Given the description of an element on the screen output the (x, y) to click on. 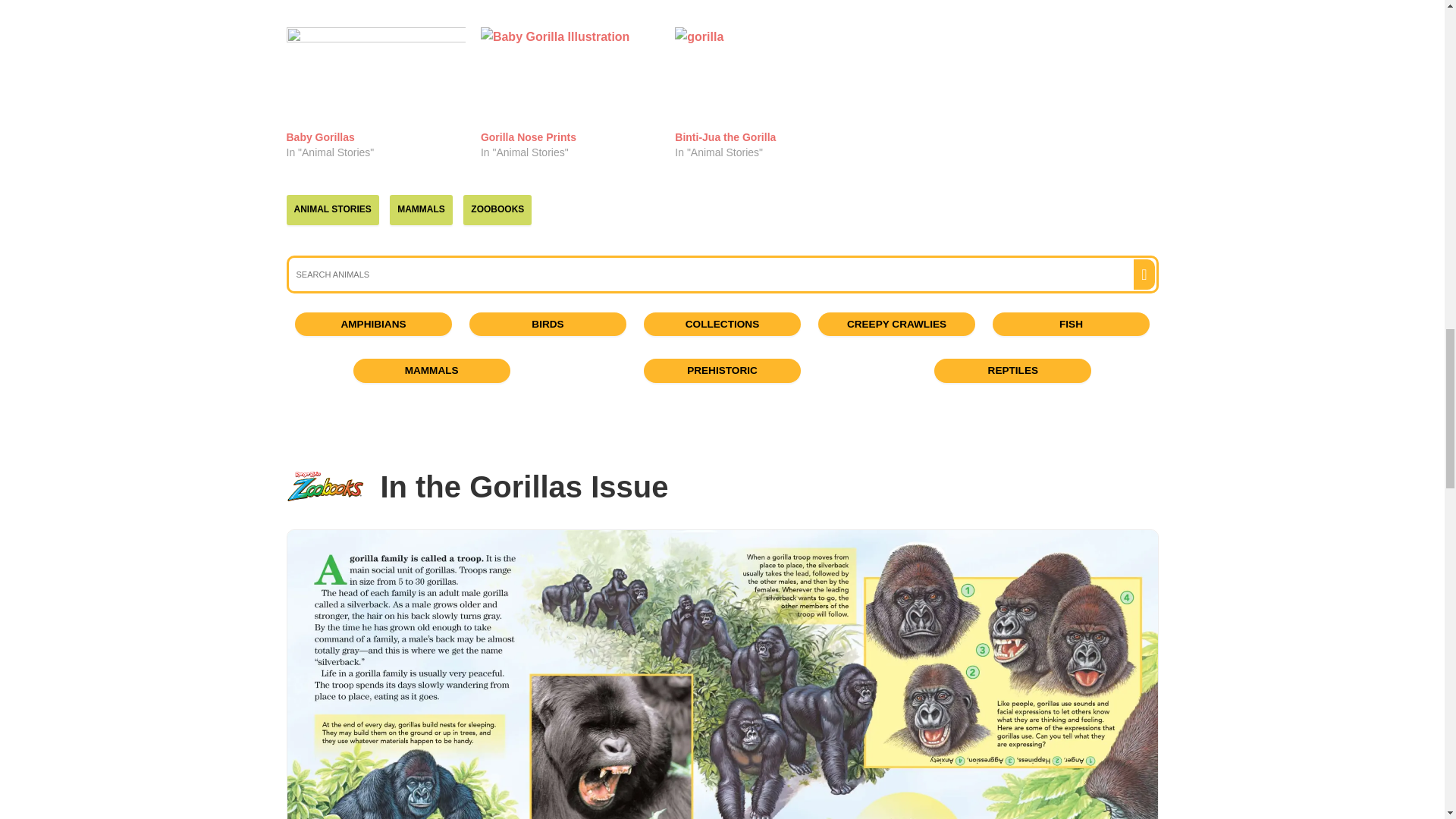
MAMMALS (421, 208)
Gorilla Nose Prints (528, 137)
Binti-Jua the Gorilla (764, 78)
ZOOBOOKS (497, 208)
Binti-Jua the Gorilla (725, 137)
Gorilla Nose Prints (528, 137)
ANIMAL STORIES (332, 208)
Baby Gorillas (375, 78)
Baby Gorillas (320, 137)
Gorilla Nose Prints (569, 78)
